Given the description of an element on the screen output the (x, y) to click on. 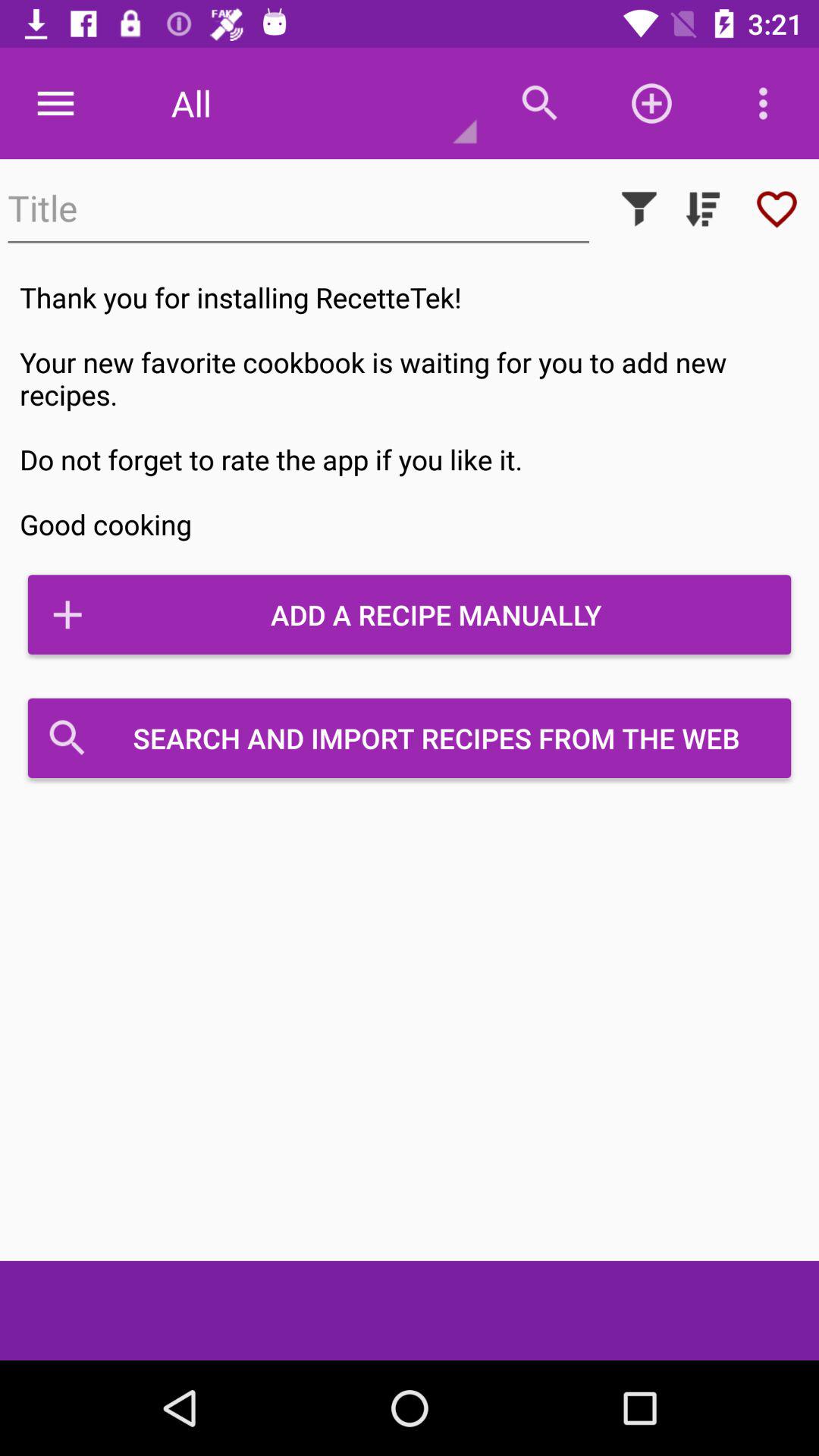
insert title (298, 208)
